Given the description of an element on the screen output the (x, y) to click on. 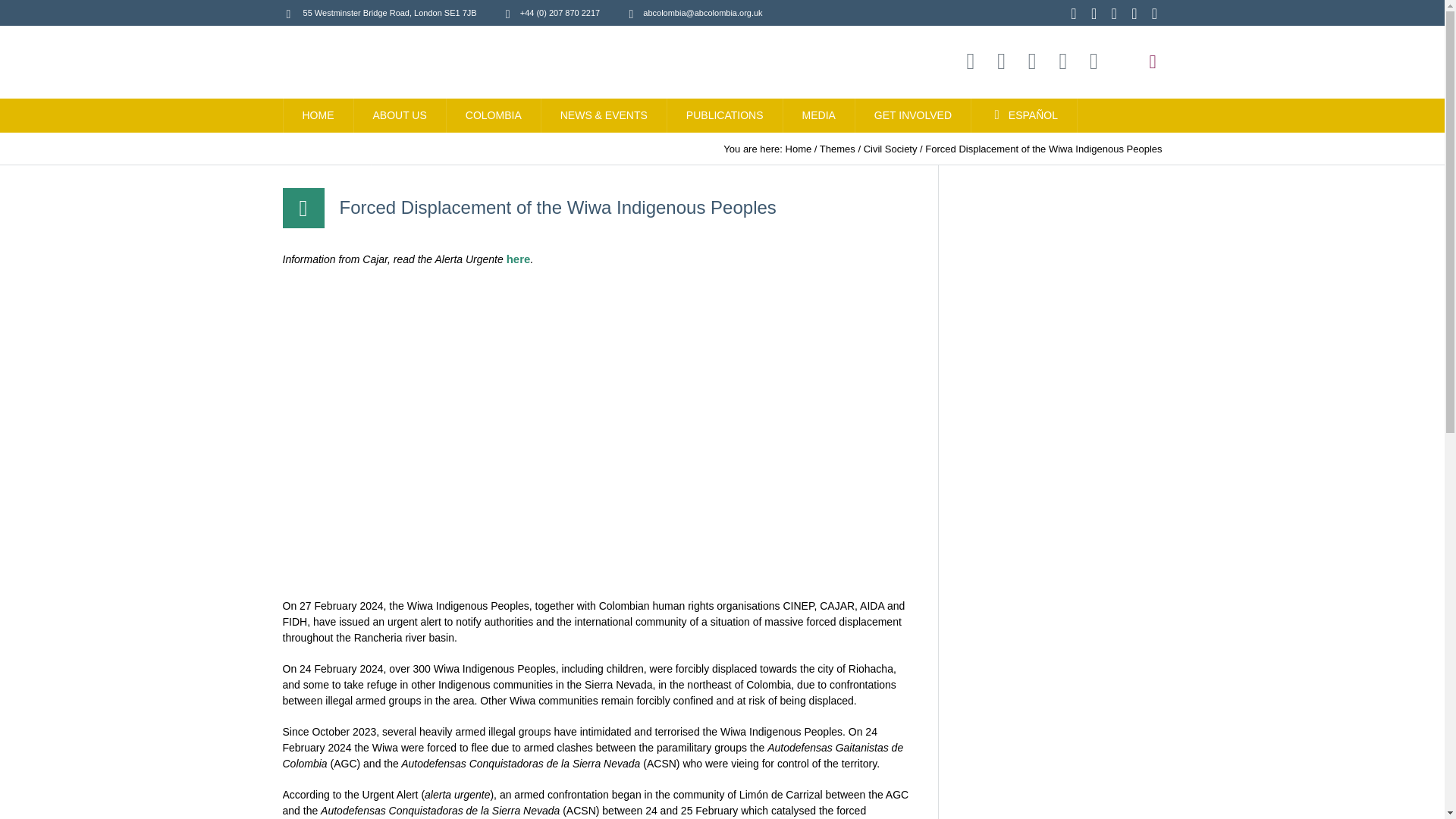
Facebook (1031, 60)
COLOMBIA (493, 115)
Instagram (1073, 13)
Facebook (1113, 13)
YouTube (1133, 13)
ABOUT US (399, 115)
Instagram (970, 60)
LinkedIn (1094, 60)
LinkedIn (1154, 13)
YouTube (1062, 60)
